Given the description of an element on the screen output the (x, y) to click on. 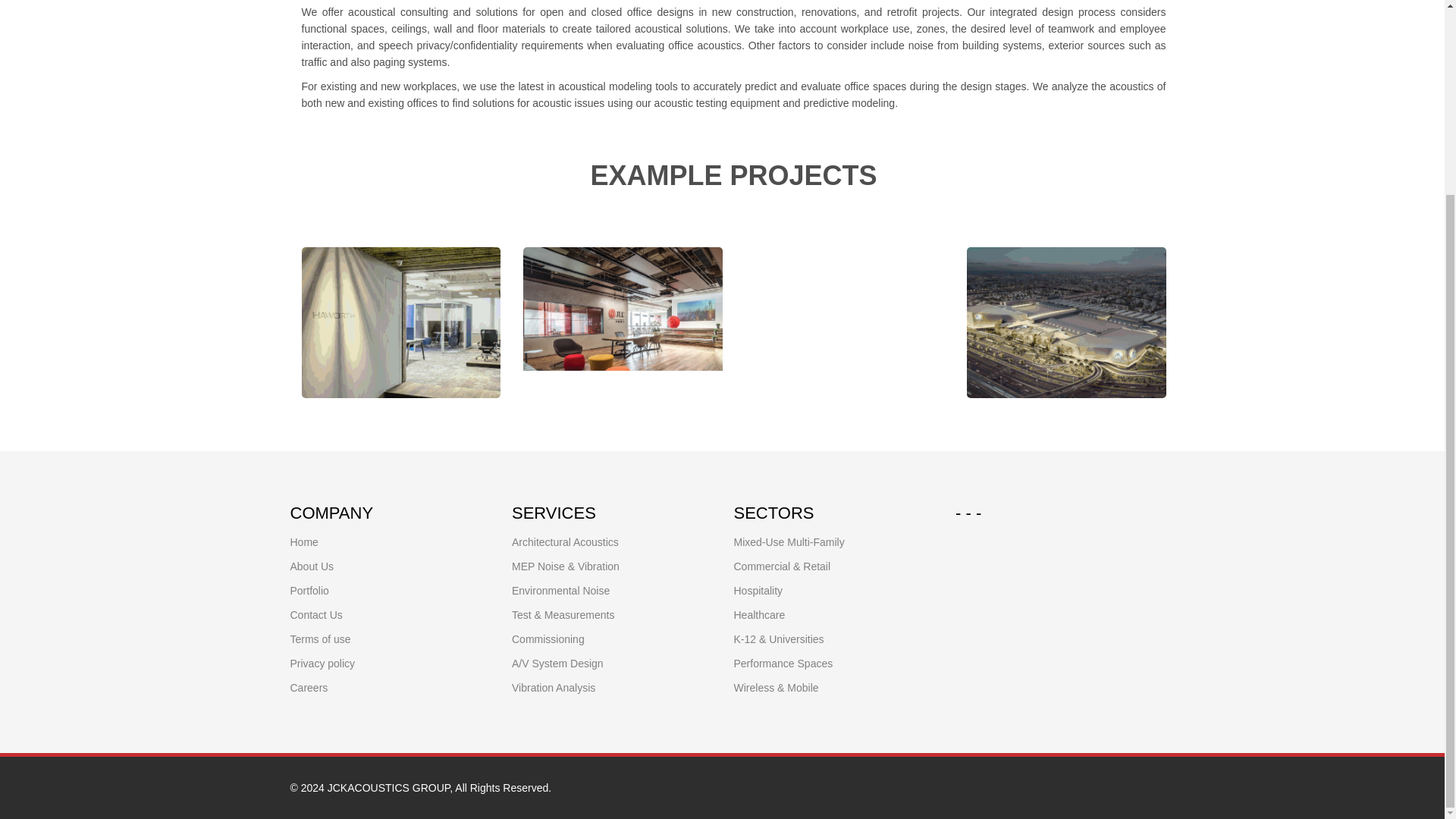
Architectural Acoustics (565, 541)
Careers (308, 687)
JCK ACOUSTICS (389, 787)
Portfolio (309, 590)
Contact Us (315, 614)
Home (303, 541)
Privacy policy (322, 663)
About Us (311, 566)
Terms of use (319, 639)
